Given the description of an element on the screen output the (x, y) to click on. 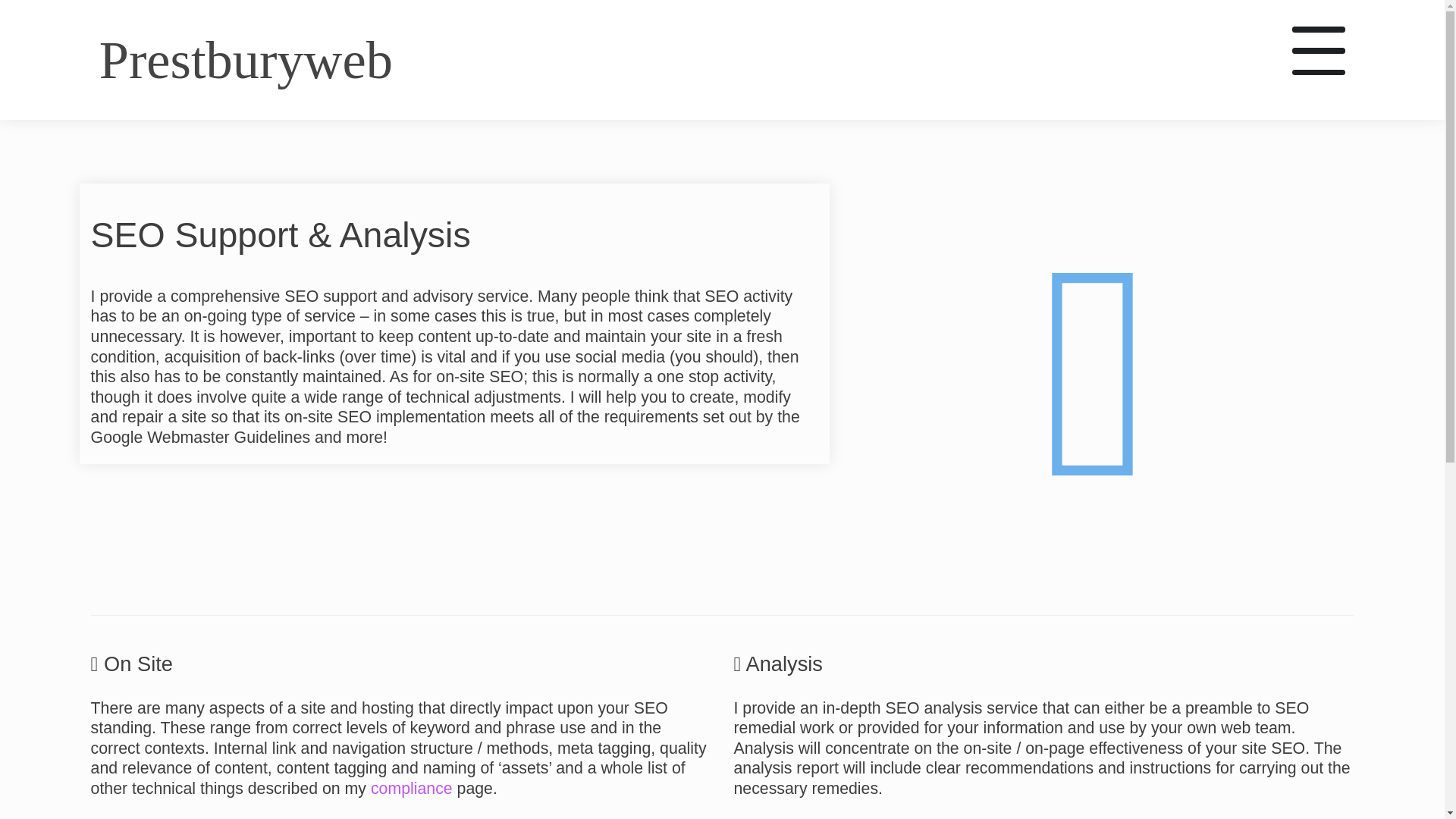
compliance (411, 788)
Prestburyweb (246, 59)
